Given the description of an element on the screen output the (x, y) to click on. 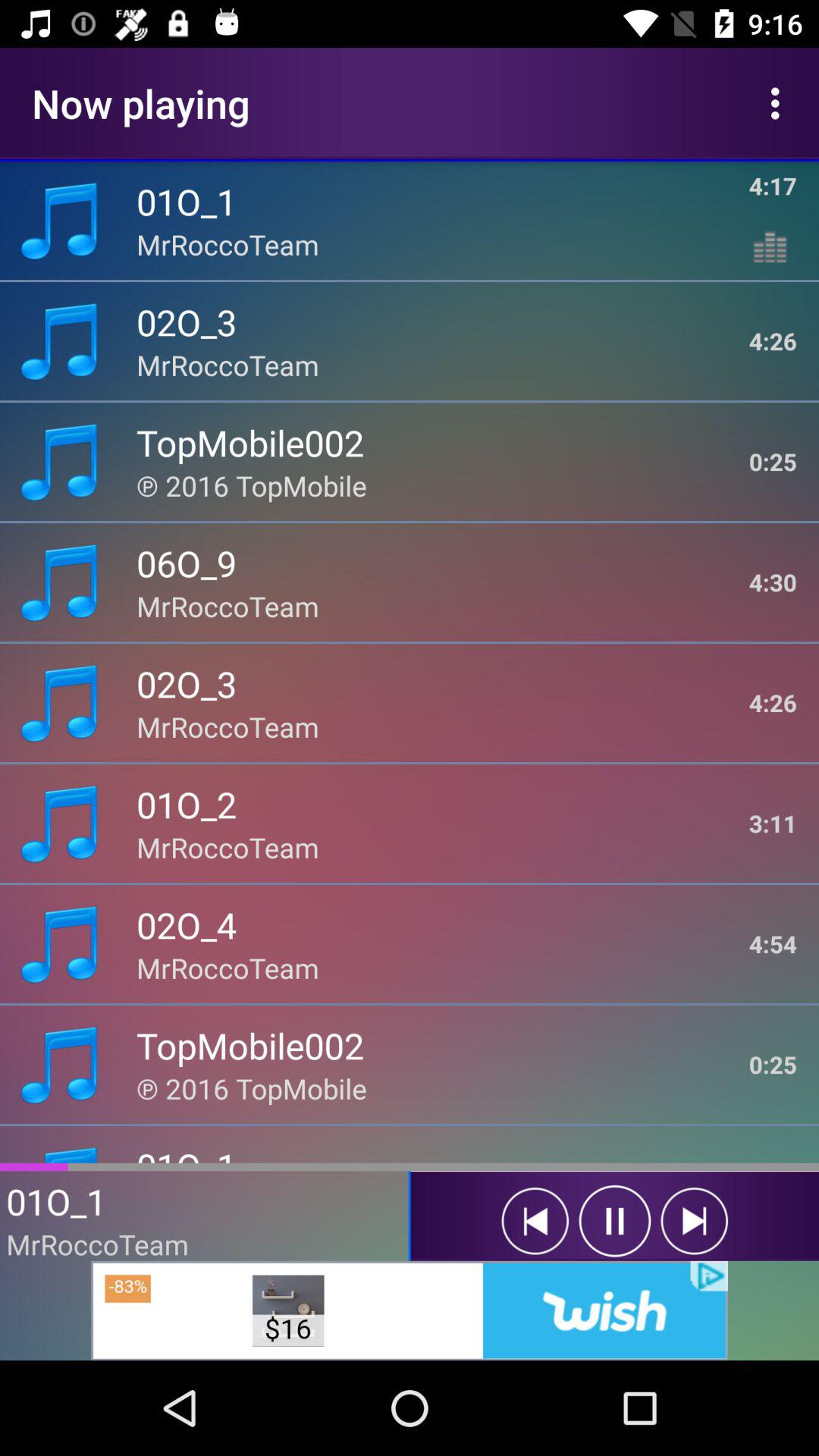
stop the option (614, 1220)
